Given the description of an element on the screen output the (x, y) to click on. 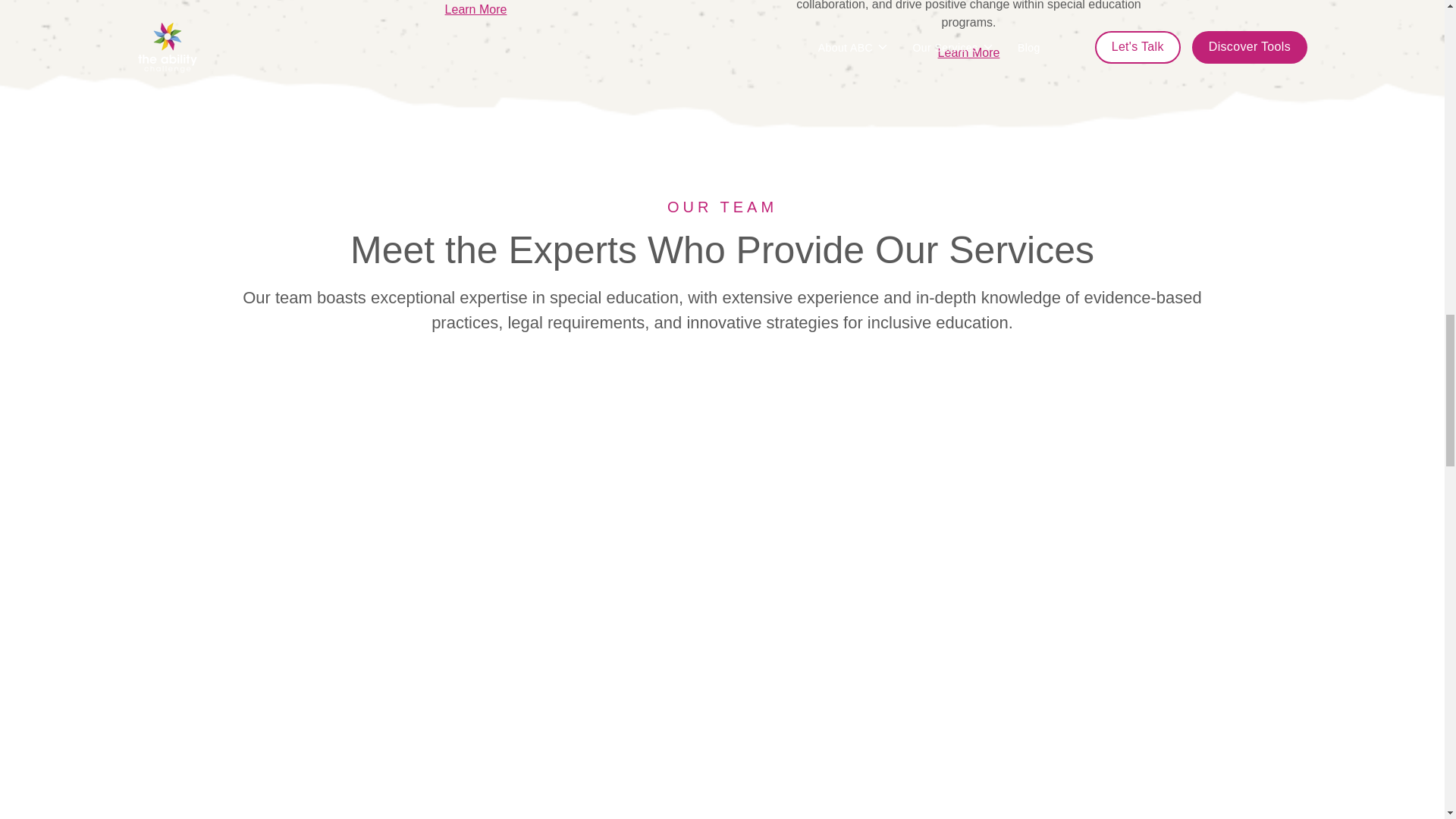
Learn More (968, 51)
Learn More (475, 9)
